Given the description of an element on the screen output the (x, y) to click on. 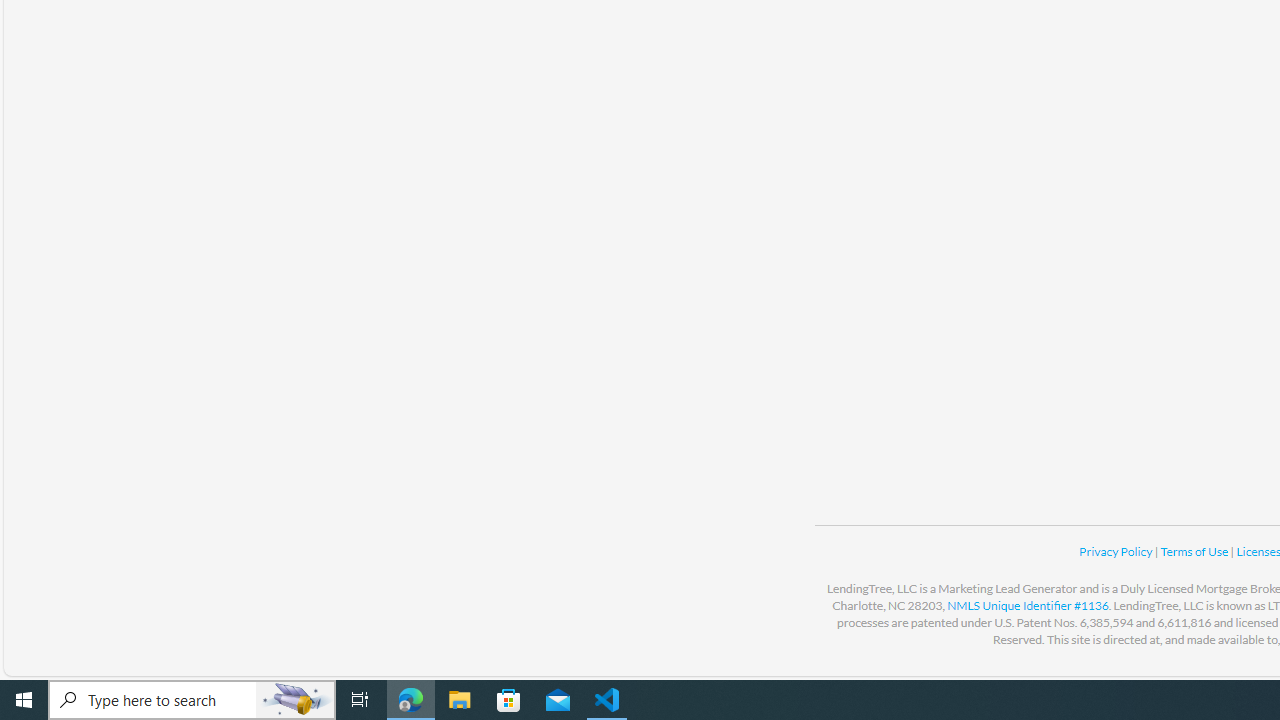
Privacy Policy  (1116, 551)
Terms of Use  (1195, 551)
NMLS Unique Identifier #1136 (1027, 605)
